Given the description of an element on the screen output the (x, y) to click on. 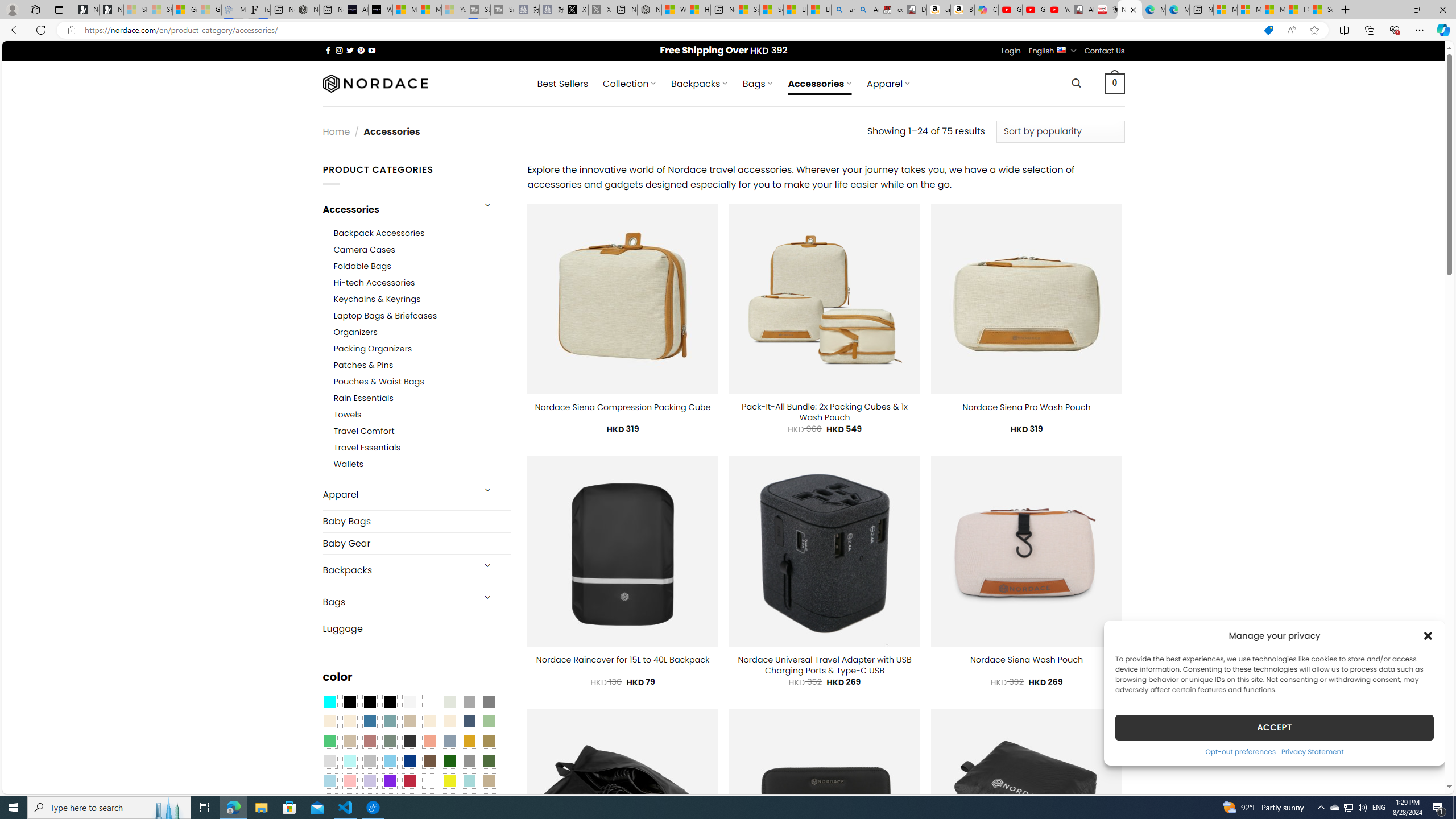
Apparel (397, 494)
AI Voice Changer for PC and Mac - Voice.ai (355, 9)
Keychains & Keyrings (376, 298)
What's the best AI voice generator? - voice.ai (380, 9)
Blue Sage (389, 721)
Nordace Siena Pro Wash Pouch (1026, 406)
Luggage (416, 628)
Brown (429, 761)
Streaming Coverage | T3 - Sleeping (478, 9)
ACCEPT (1274, 727)
